Given the description of an element on the screen output the (x, y) to click on. 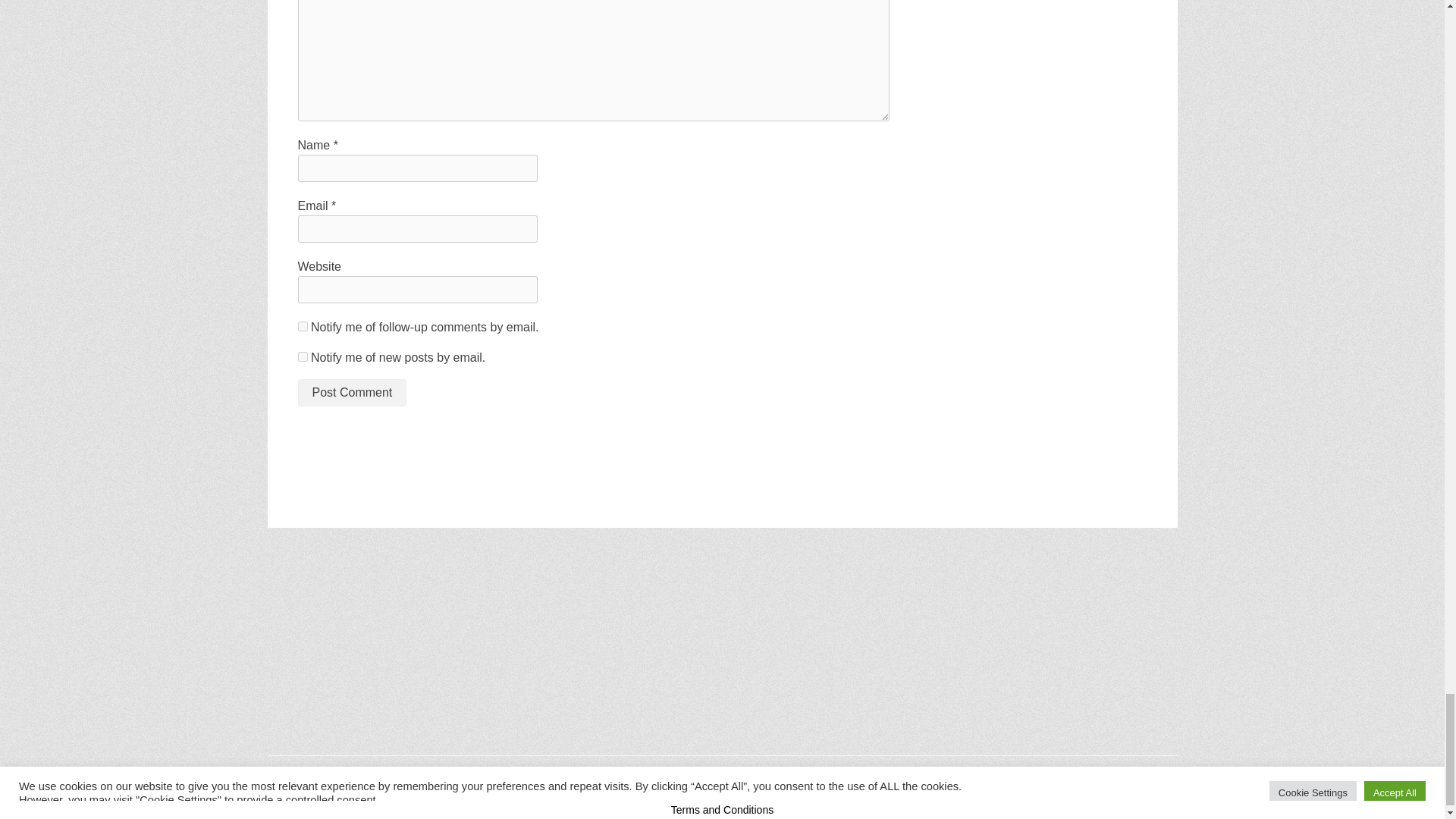
subscribe (302, 326)
Post Comment (351, 392)
subscribe (302, 356)
